Given the description of an element on the screen output the (x, y) to click on. 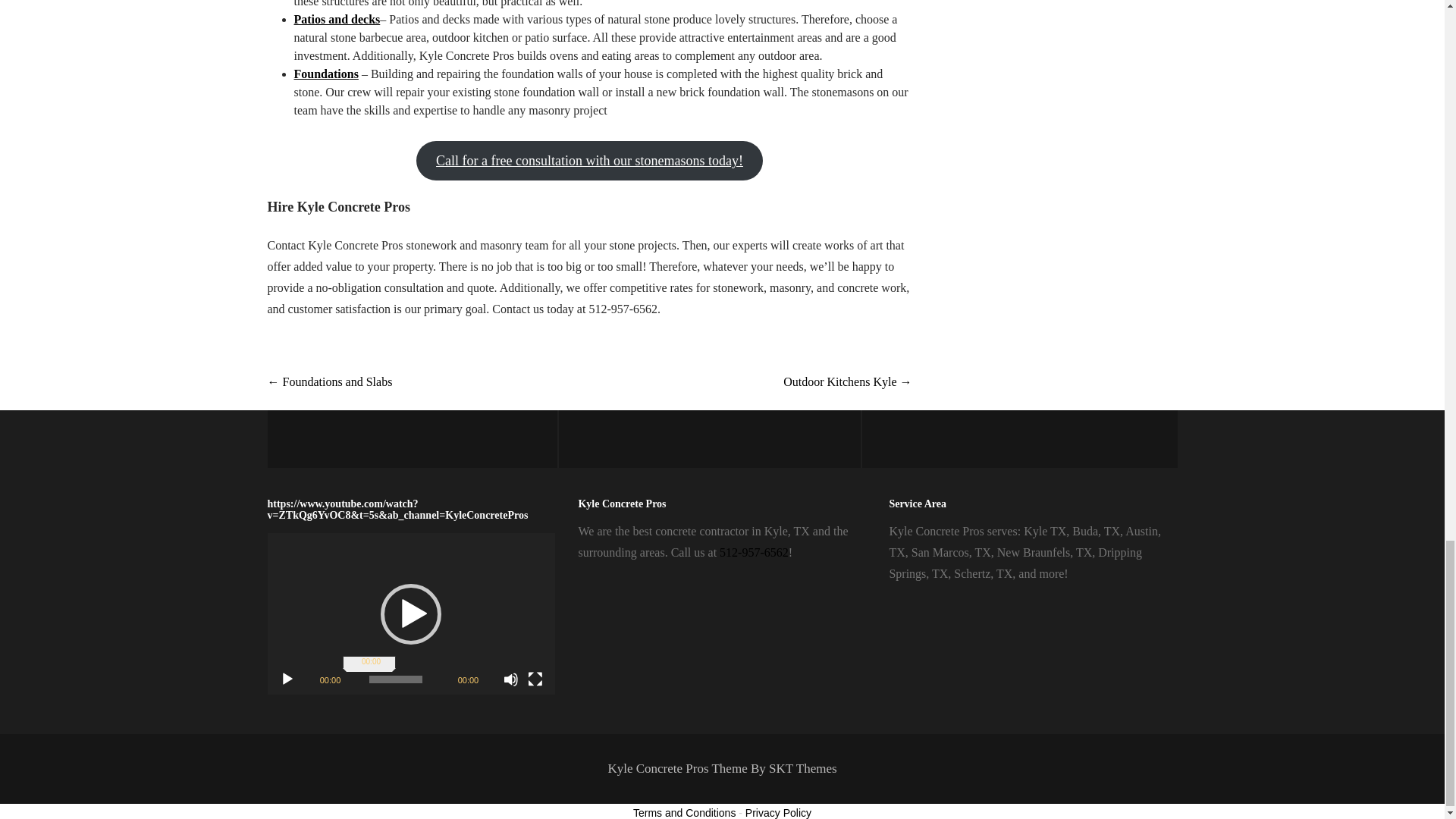
512-957-6562 (754, 552)
Play (286, 679)
Foundations (326, 73)
Patios and decks (337, 19)
Terms and Conditions (684, 812)
Privacy Policy (777, 812)
Mute (510, 679)
Fullscreen (535, 679)
Call for a free consultation with our stonemasons today! (589, 160)
